Given the description of an element on the screen output the (x, y) to click on. 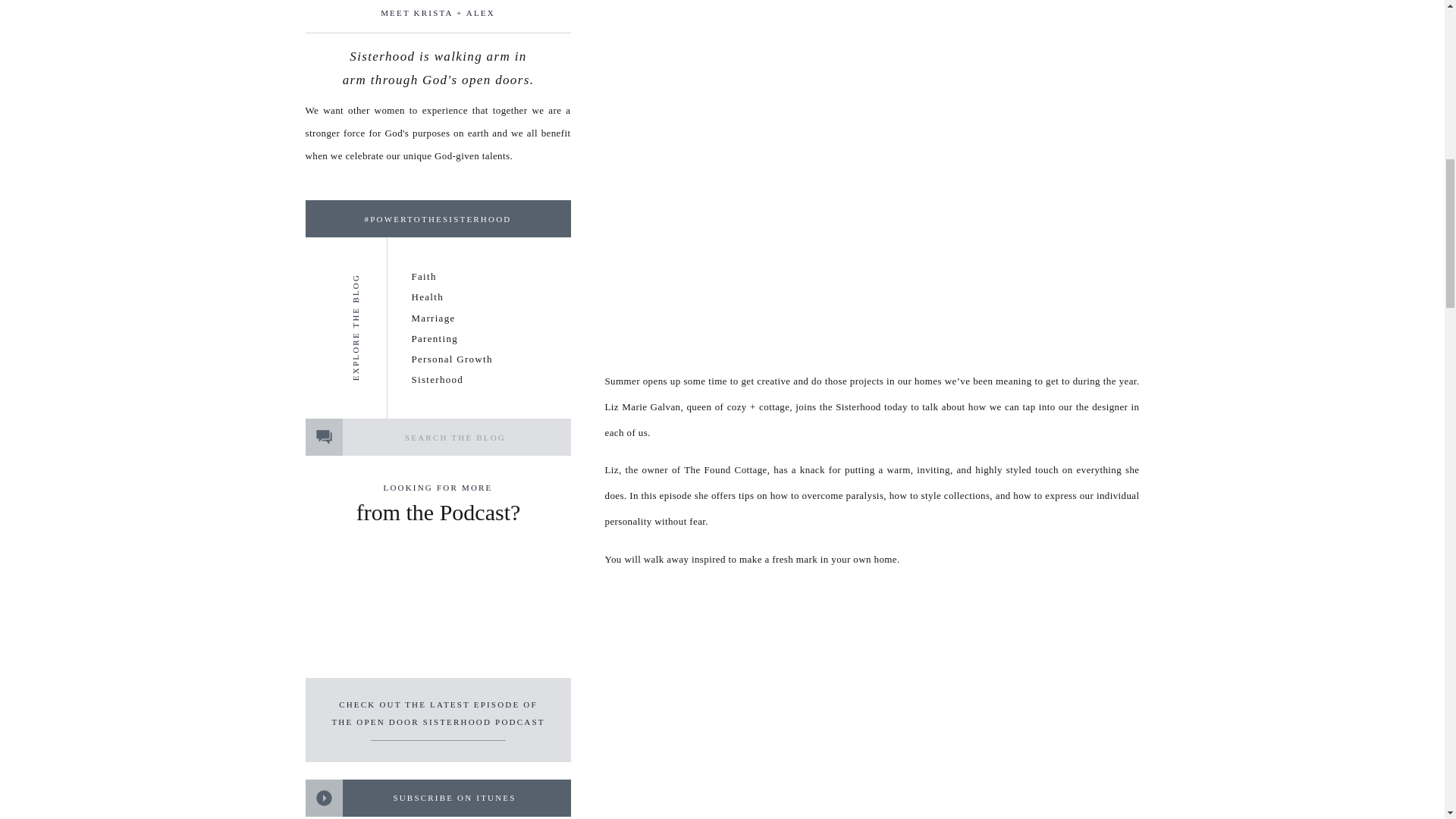
Faith (422, 276)
SUBSCRIBE ON ITUNES (454, 799)
Marriage (432, 317)
Sisterhood (436, 378)
Parenting (434, 337)
Health (426, 296)
Personal Growth  (453, 358)
